Given the description of an element on the screen output the (x, y) to click on. 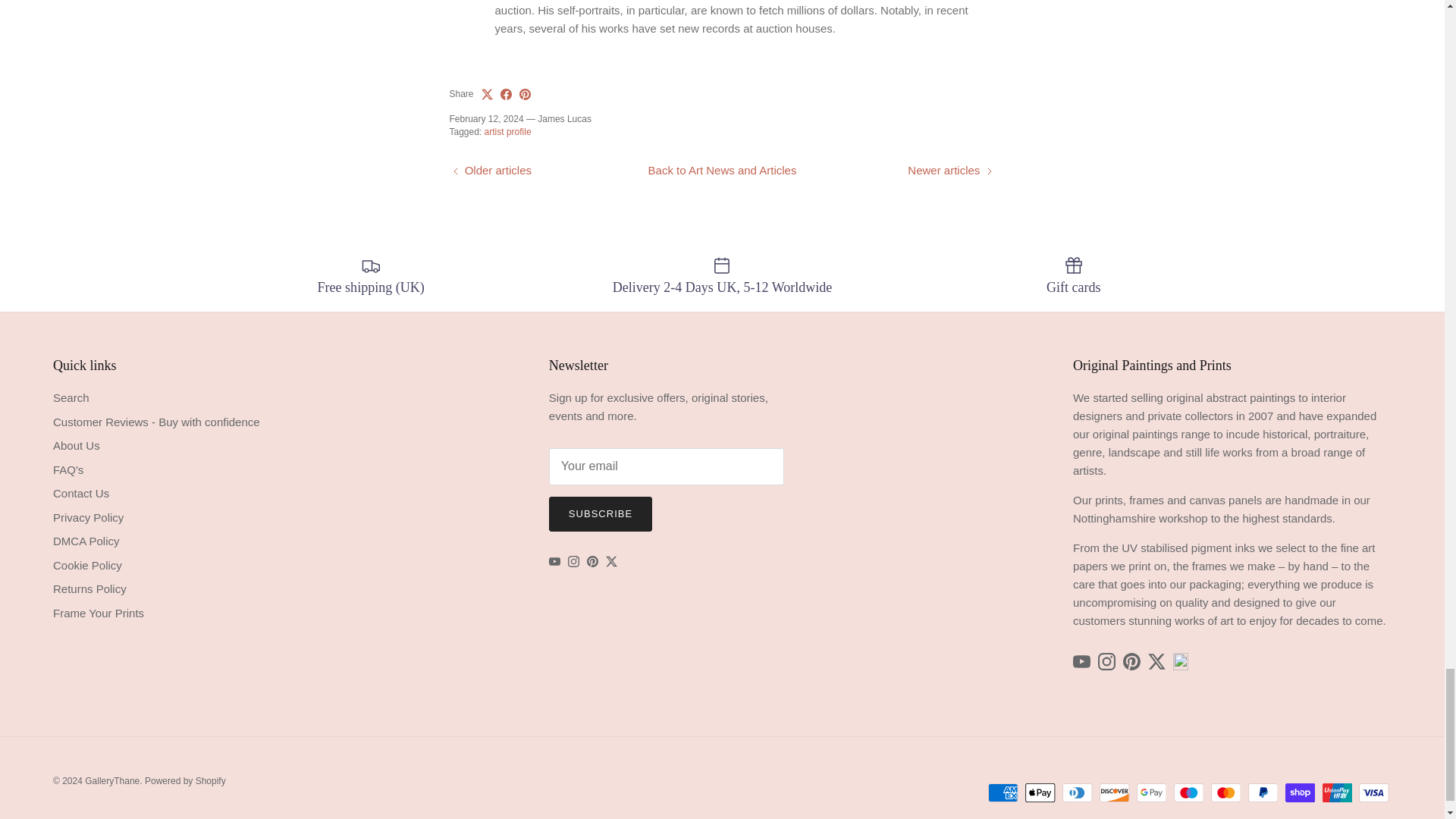
GalleryThane on YouTube (554, 561)
Share on Facebook (506, 93)
Tweet on X (487, 93)
GalleryThane on Pinterest (592, 561)
Show articles tagged artist profile (507, 131)
Pin on Pinterest (525, 93)
GalleryThane on Instagram (573, 561)
